Given the description of an element on the screen output the (x, y) to click on. 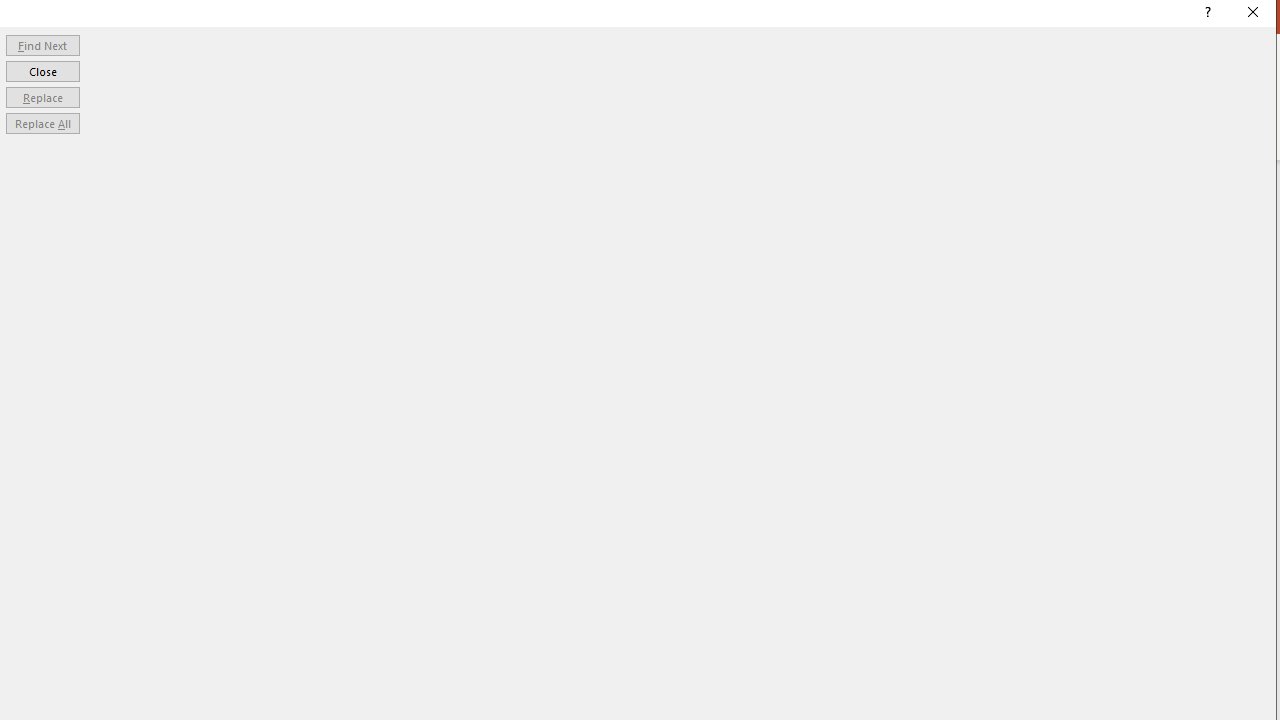
Context help (1206, 14)
Replace All (42, 123)
Replace (42, 96)
Find Next (42, 44)
